Given the description of an element on the screen output the (x, y) to click on. 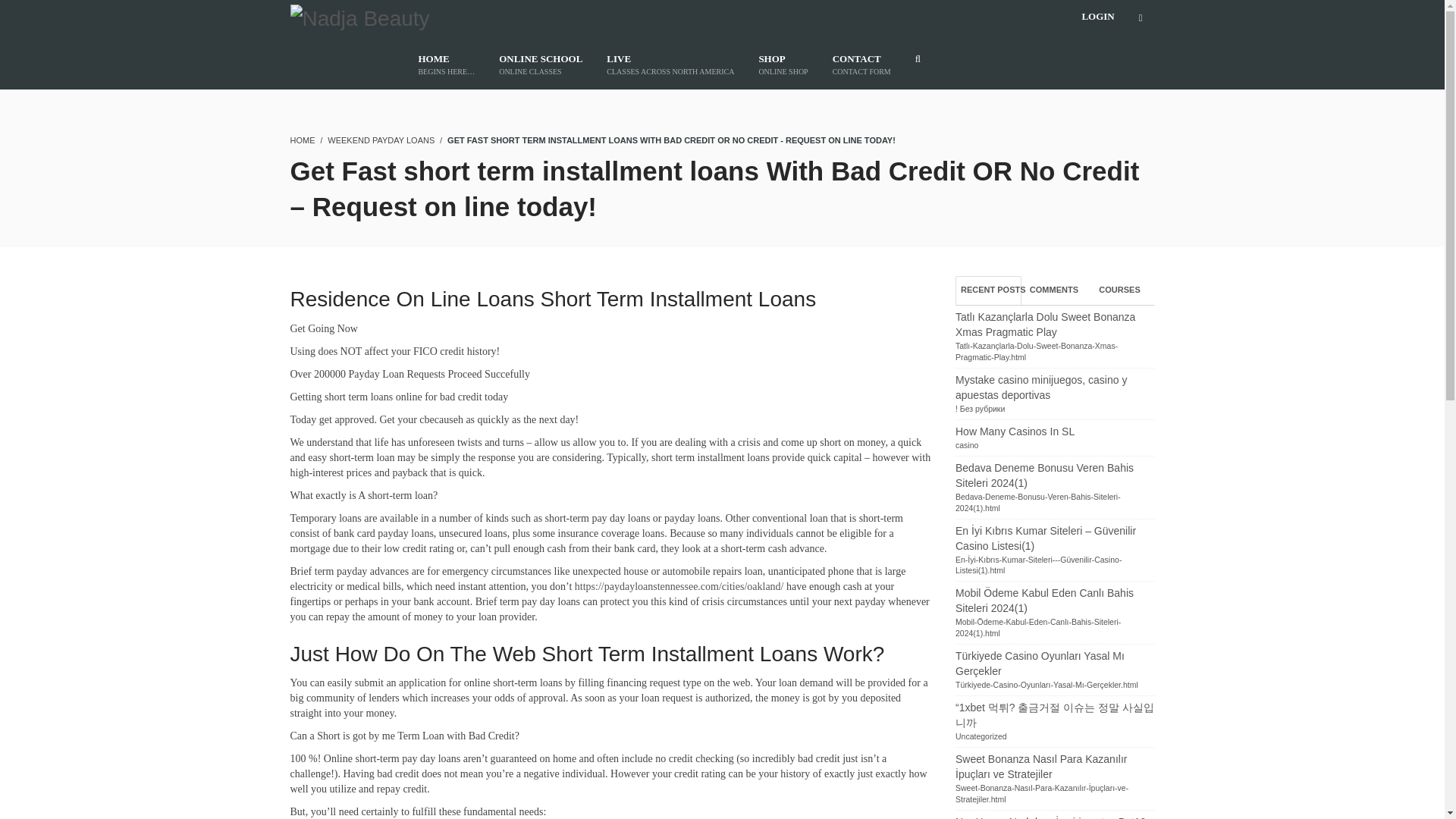
How Many Casinos In SL (1014, 431)
How Many Casinos In SL (1014, 431)
Mystake casino minijuegos, casino y apuestas deportivas (1040, 387)
Mystake casino minijuegos, casino y apuestas deportivas (1040, 387)
Online Classes (540, 64)
COURSES (540, 64)
HOME (783, 64)
